Given the description of an element on the screen output the (x, y) to click on. 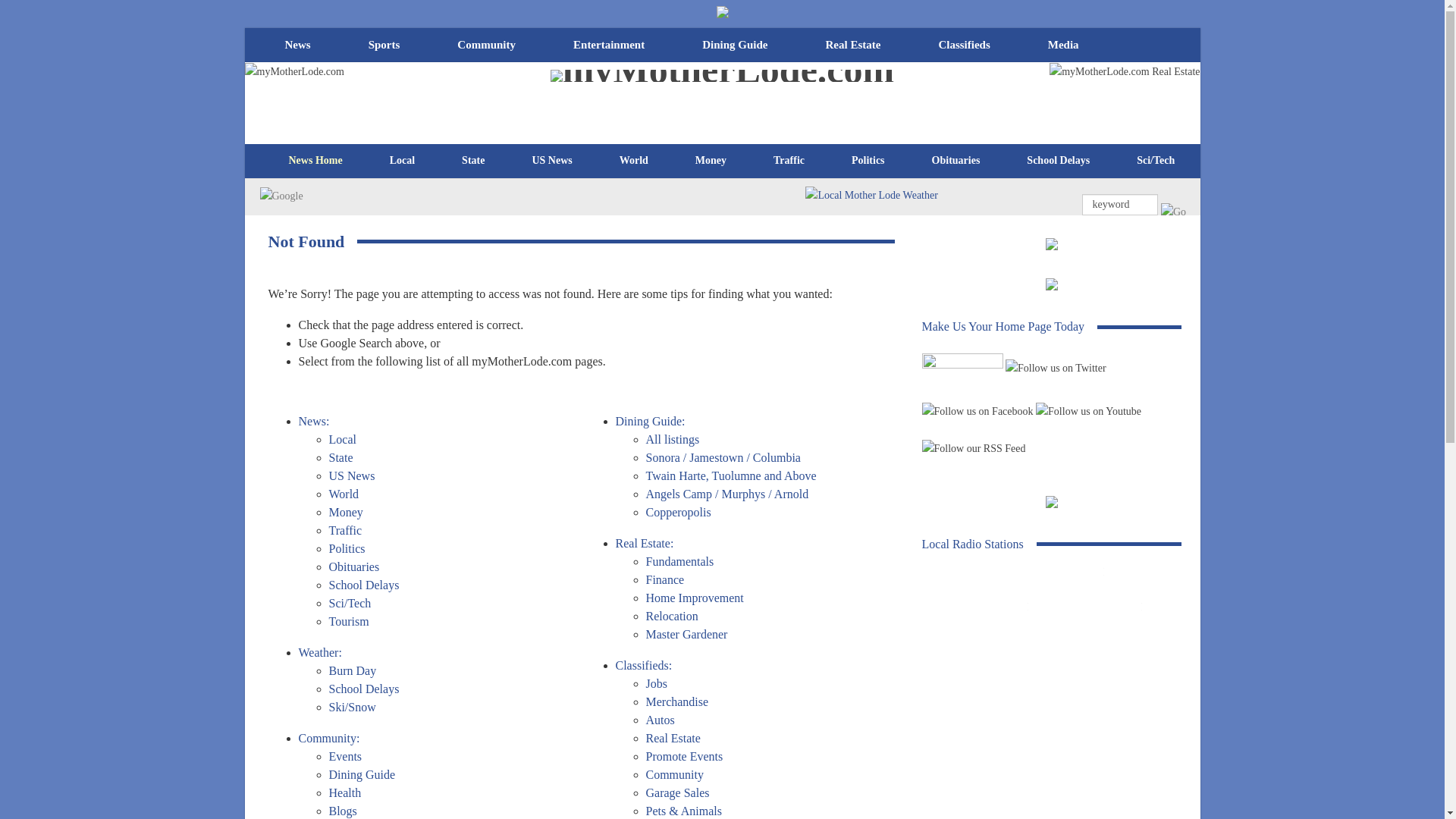
Community (486, 44)
Money (710, 160)
Obituaries (956, 160)
Local (402, 160)
US News (551, 160)
News Home (314, 160)
Dining Guide (734, 44)
World (633, 160)
Sports (384, 44)
